Given the description of an element on the screen output the (x, y) to click on. 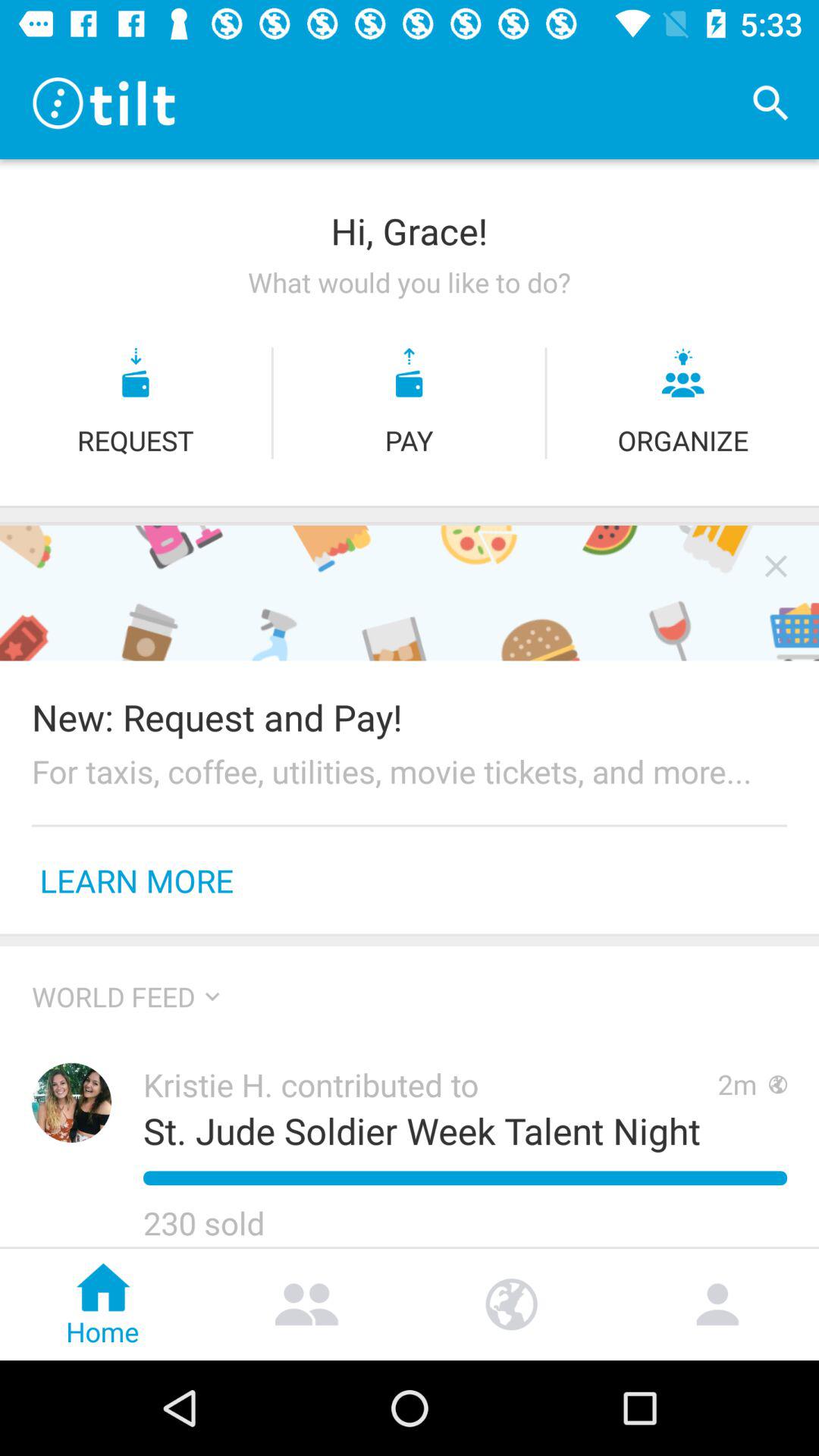
turn on item on the right (776, 566)
